Given the description of an element on the screen output the (x, y) to click on. 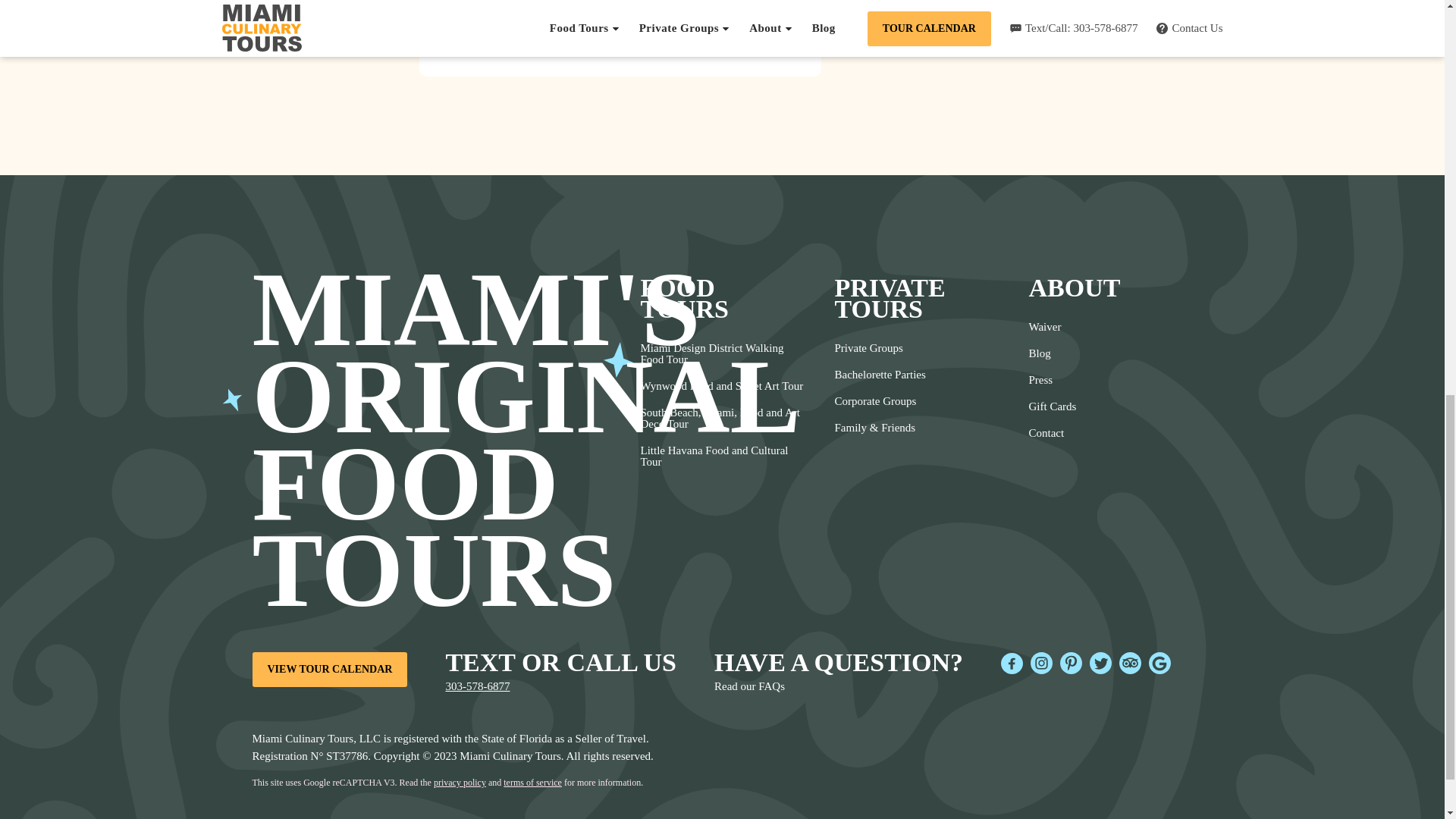
Blog (1051, 353)
Bachelorette Parties (879, 374)
Wynwood Food and Street Art Tour (721, 386)
Press (1051, 379)
Little Havana Food and Cultural Tour (721, 456)
Corporate Groups (879, 401)
View Tours (516, 48)
South Beach, Miami, Food and Art Deco Tour (721, 418)
Miami Design District Walking Food Tour (721, 353)
FareHarbor (1342, 64)
